Given the description of an element on the screen output the (x, y) to click on. 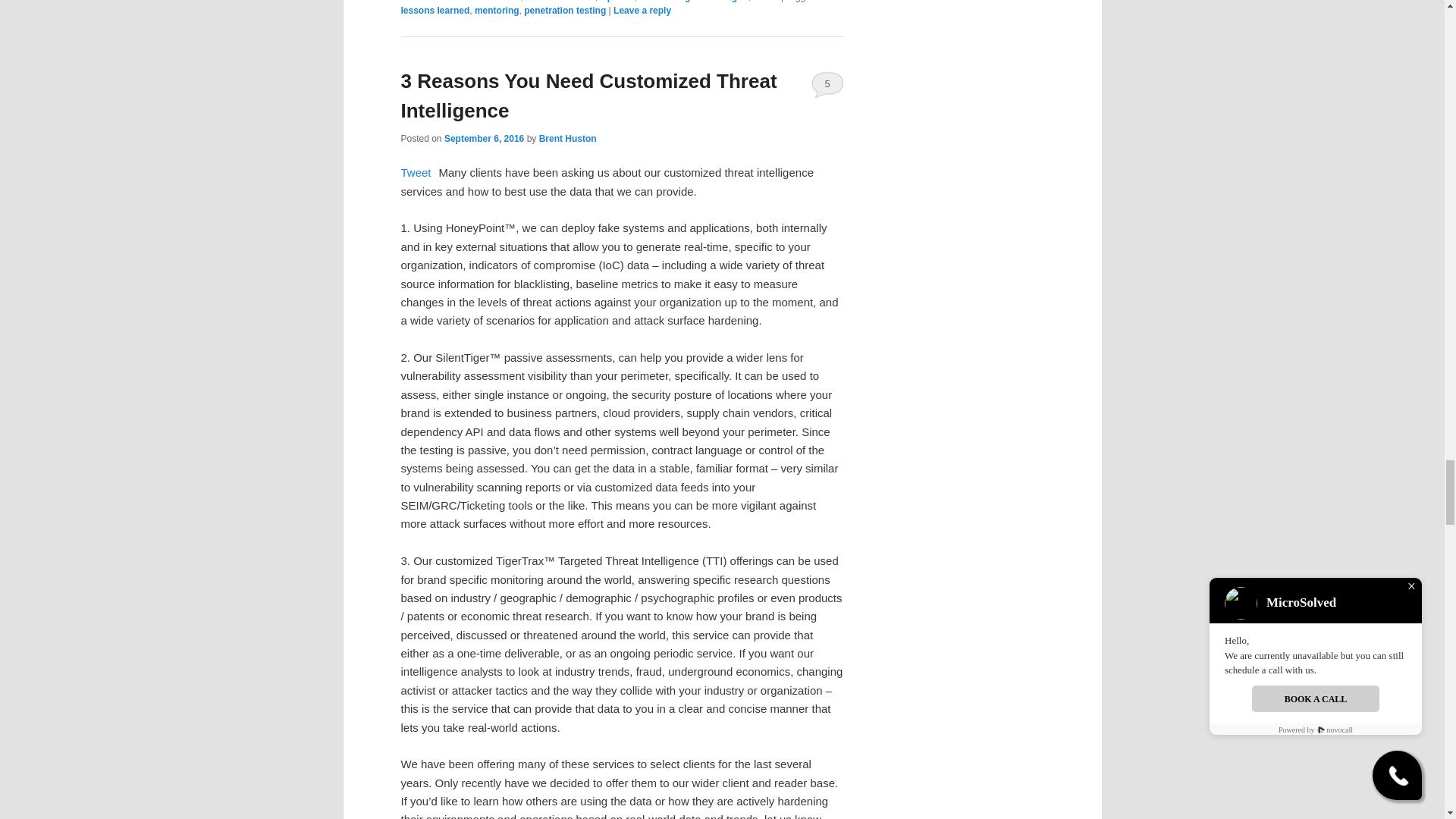
9:19 am (484, 138)
View all posts by Brent Huston (567, 138)
